Given the description of an element on the screen output the (x, y) to click on. 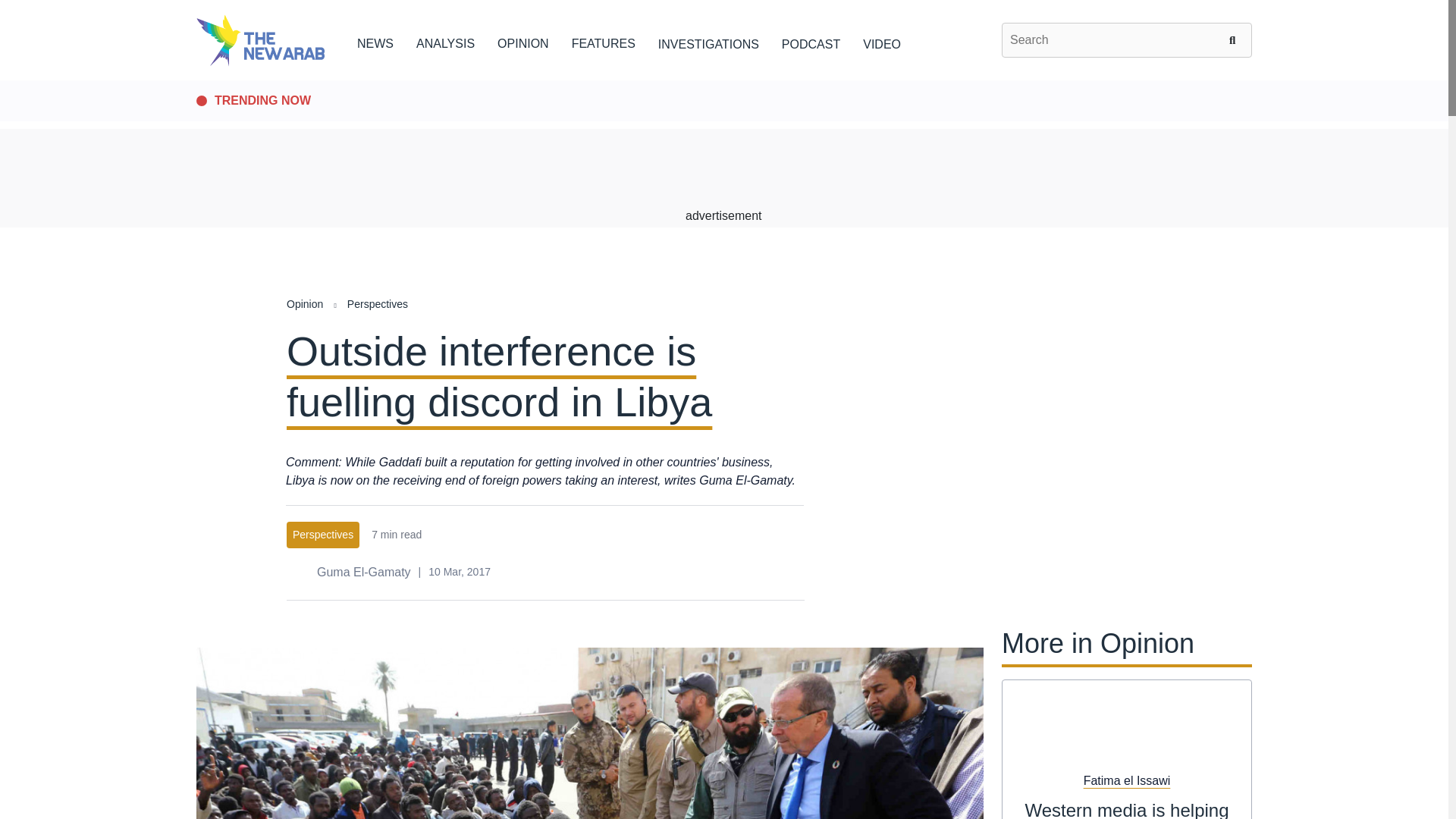
ANALYSIS (445, 41)
Skip to main content (724, 81)
OPINION (523, 41)
Search (1234, 39)
NEWS (375, 41)
